Given the description of an element on the screen output the (x, y) to click on. 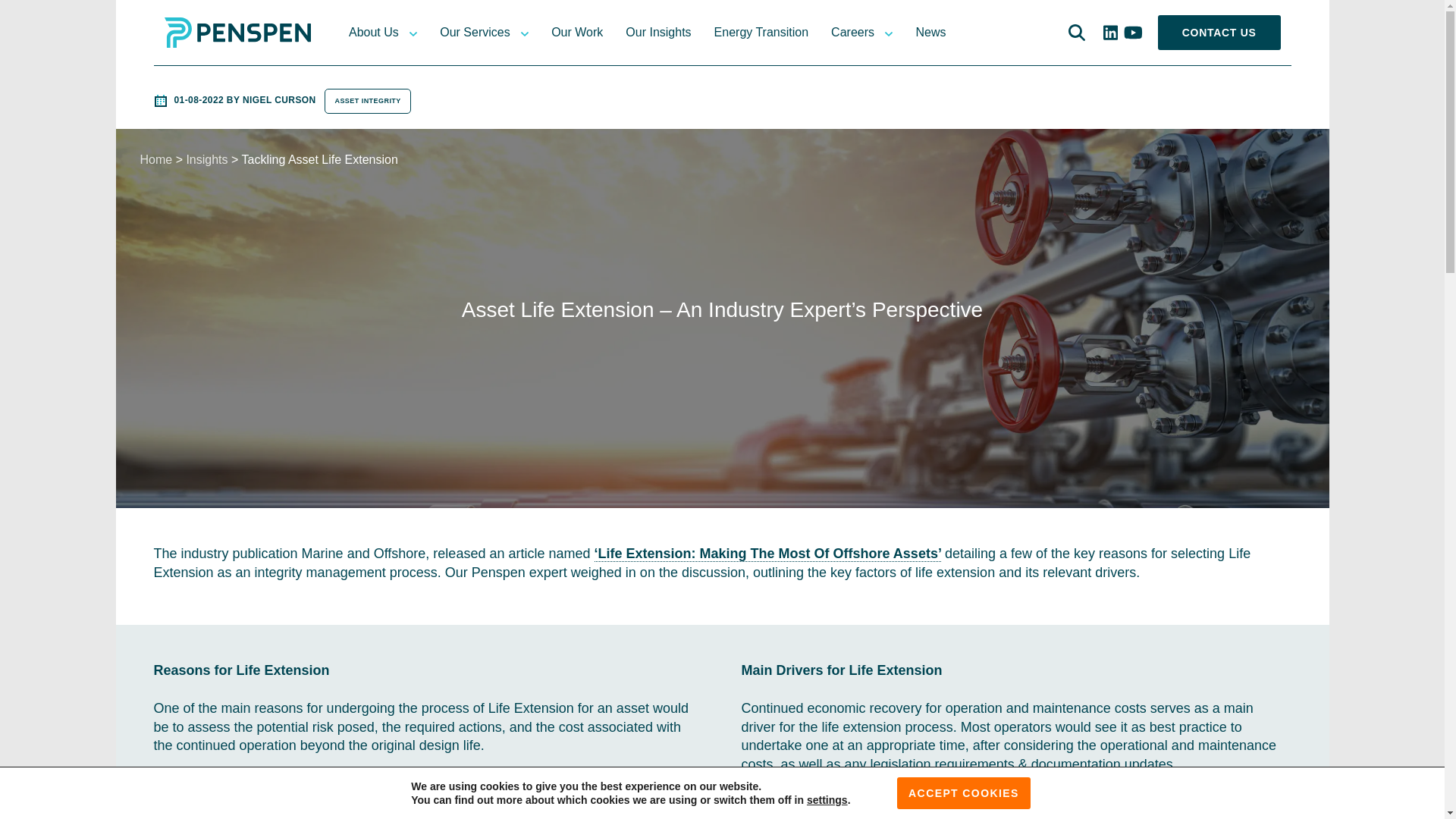
Go to Insights. (206, 159)
Penspen (236, 34)
Go to Penspen. (155, 159)
Energy Transition (761, 32)
Our Insights (658, 32)
Our Services (474, 32)
